Given the description of an element on the screen output the (x, y) to click on. 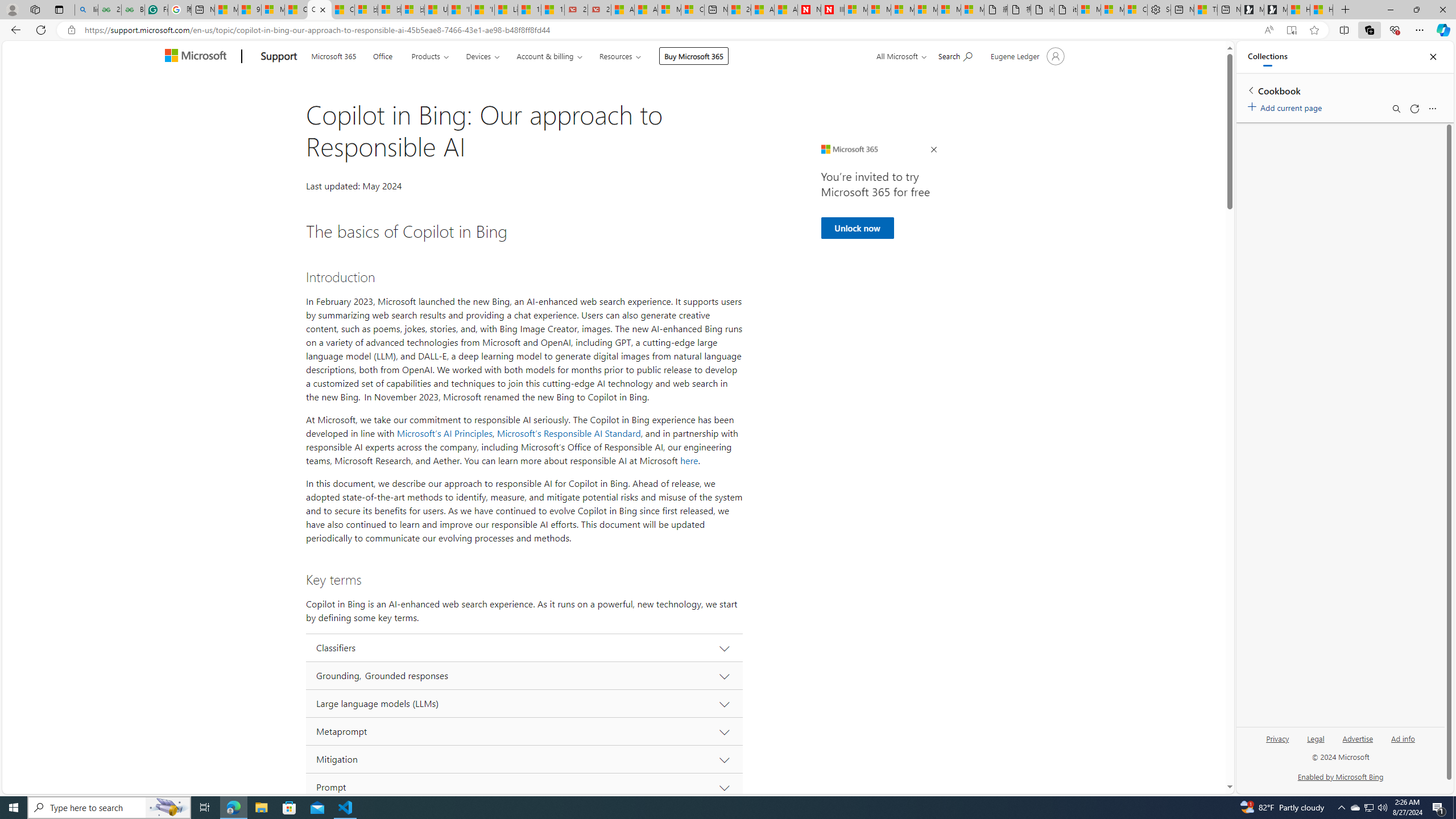
itconcepthk.com/projector_solutions.mp4 (1065, 9)
15 Ways Modern Life Contradicts the Teachings of Jesus (552, 9)
Best SSL Certificates Provider in India - GeeksforGeeks (132, 9)
Newsweek - News, Analysis, Politics, Business, Technology (809, 9)
Unlock now (857, 228)
